Given the description of an element on the screen output the (x, y) to click on. 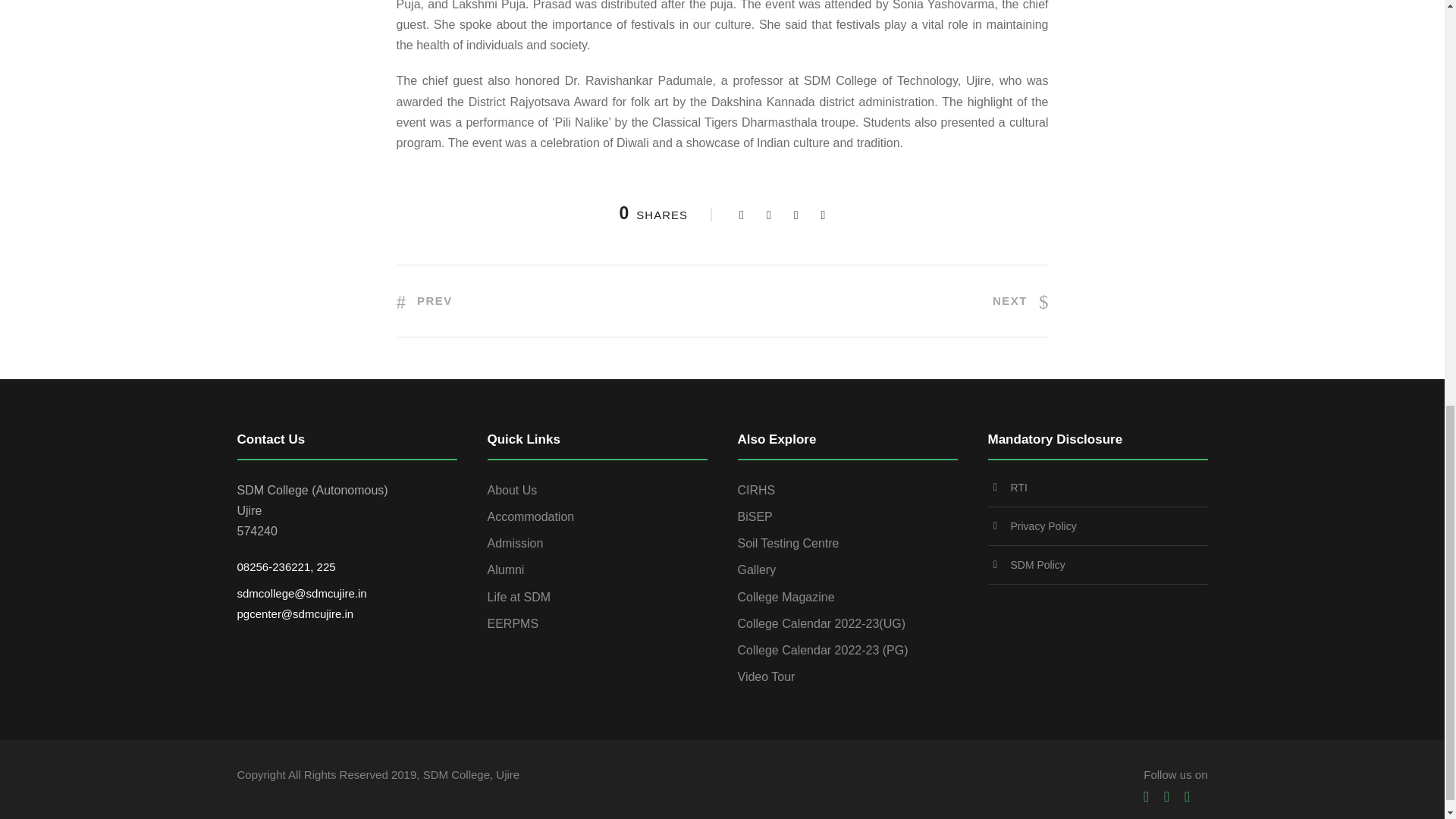
facebook (1145, 796)
youtube (1166, 796)
instagram (1187, 796)
